Given the description of an element on the screen output the (x, y) to click on. 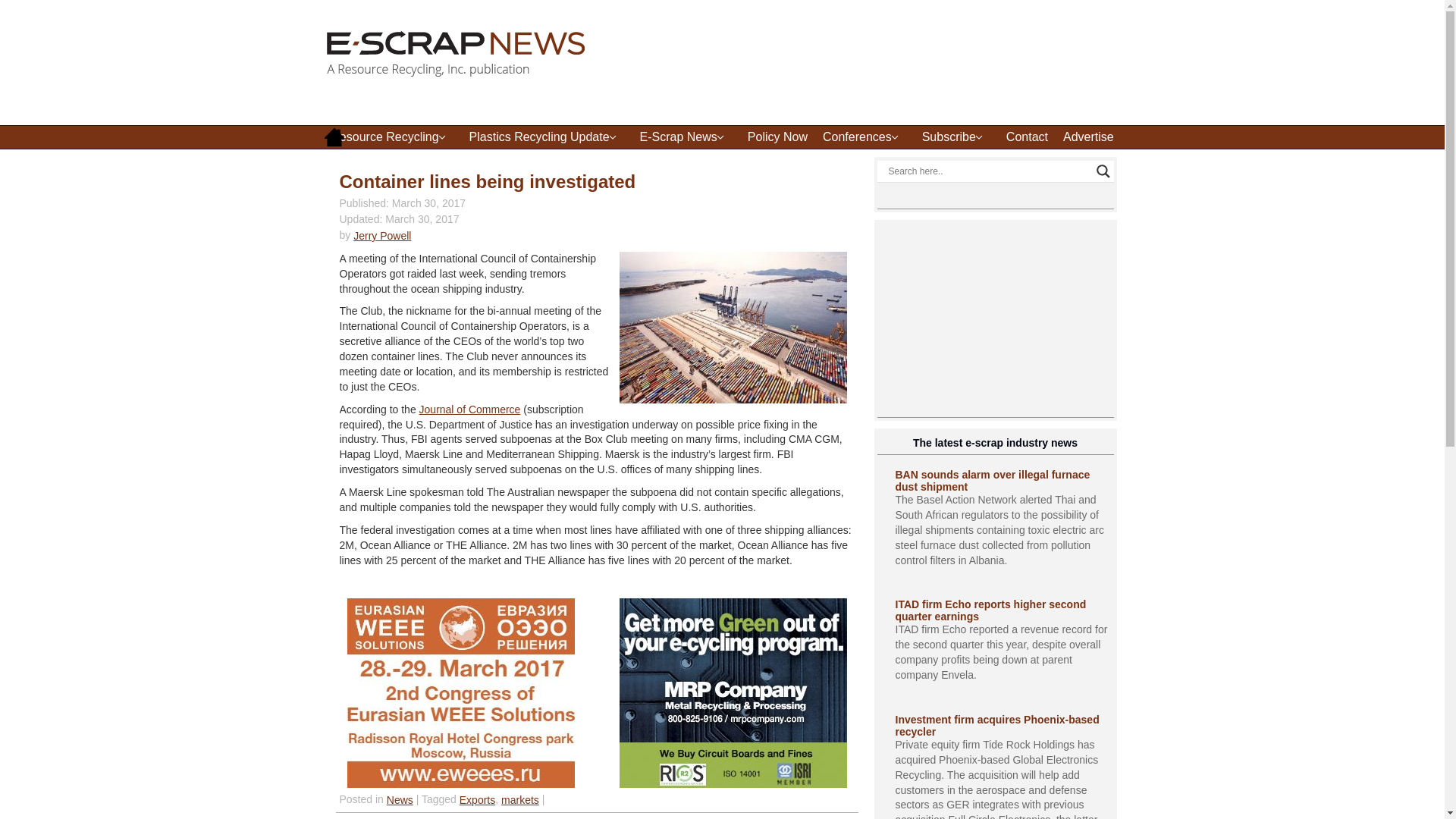
Policy Now (777, 137)
Contact (1026, 137)
View all posts by Jerry Powell (381, 235)
Permalink to Container lines being investigated (487, 181)
Container lines being investigated (487, 181)
Resource Recycling (392, 137)
Advertise (1088, 137)
Conferences (864, 137)
E-Scrap News (685, 137)
Plastics Recycling Update (546, 137)
